Given the description of an element on the screen output the (x, y) to click on. 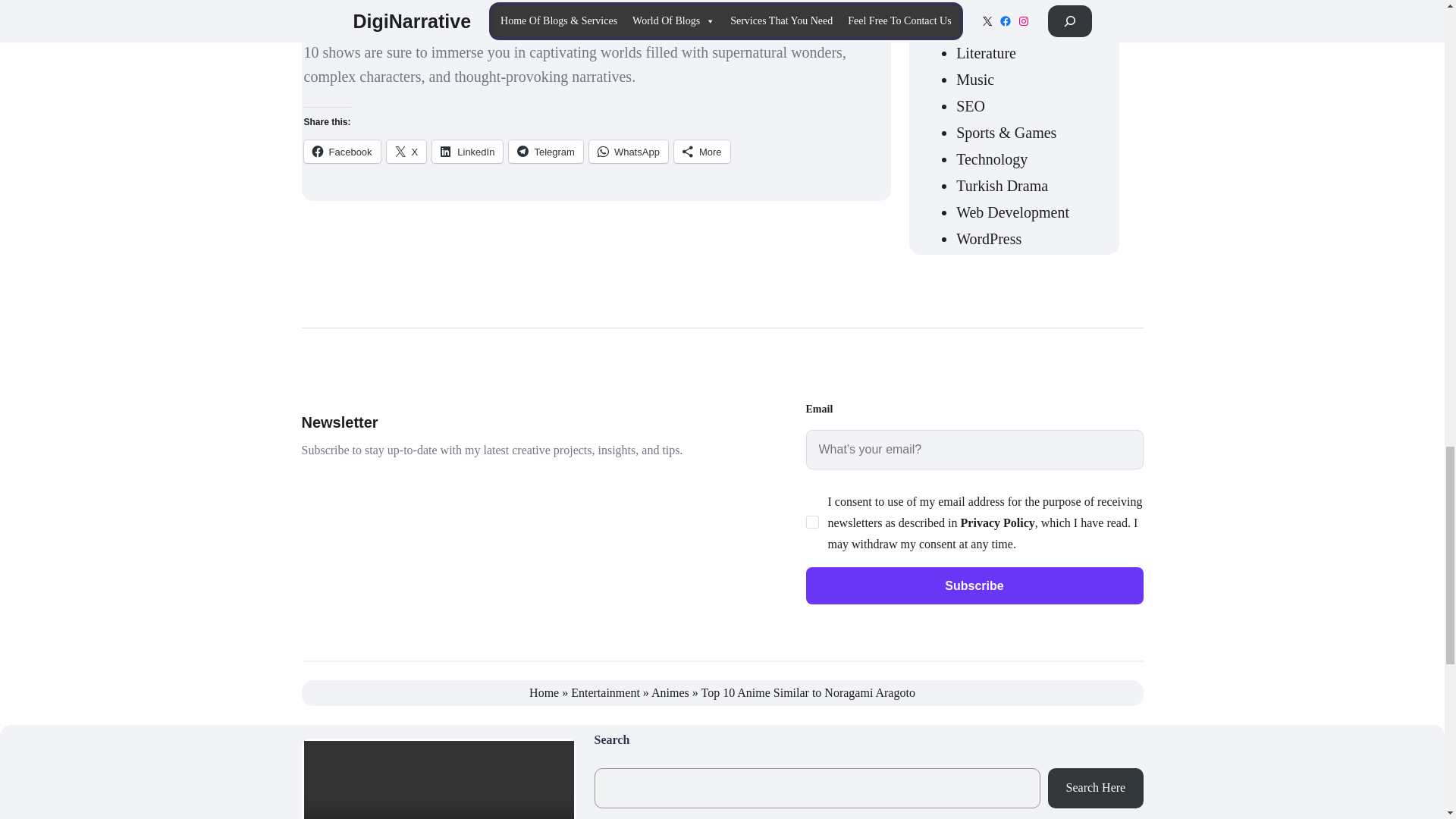
Click to share on Facebook (341, 151)
Facebook (341, 151)
Click to share on X (406, 151)
Subscribe (973, 586)
on (811, 521)
Click to share on Telegram (545, 151)
X (406, 151)
Click to share on WhatsApp (628, 151)
Click to share on LinkedIn (467, 151)
